Given the description of an element on the screen output the (x, y) to click on. 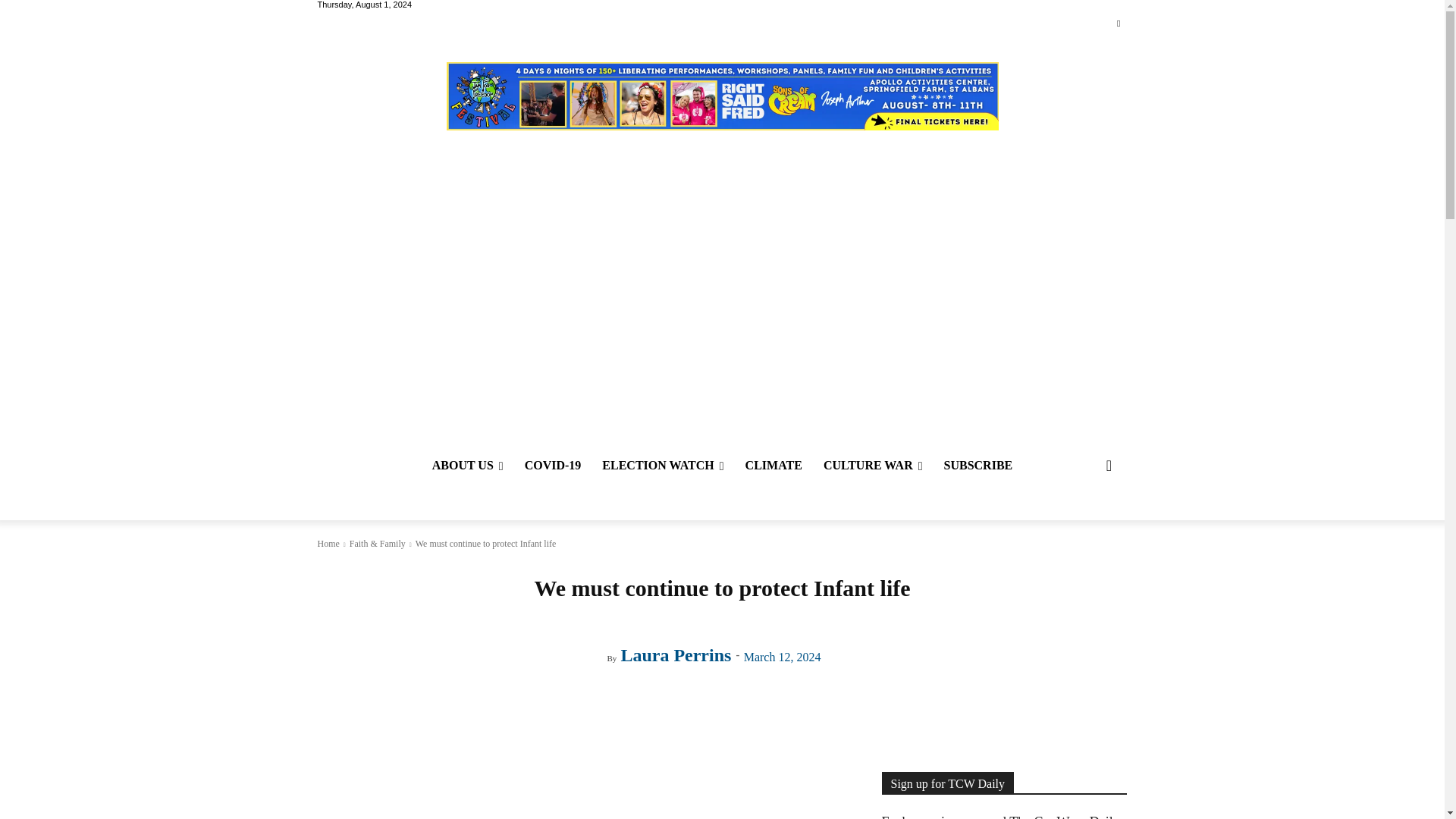
COVID-19 (552, 465)
ELECTION WATCH (662, 465)
Twitter (1117, 23)
ABOUT US (467, 465)
CLIMATE (773, 465)
